Given the description of an element on the screen output the (x, y) to click on. 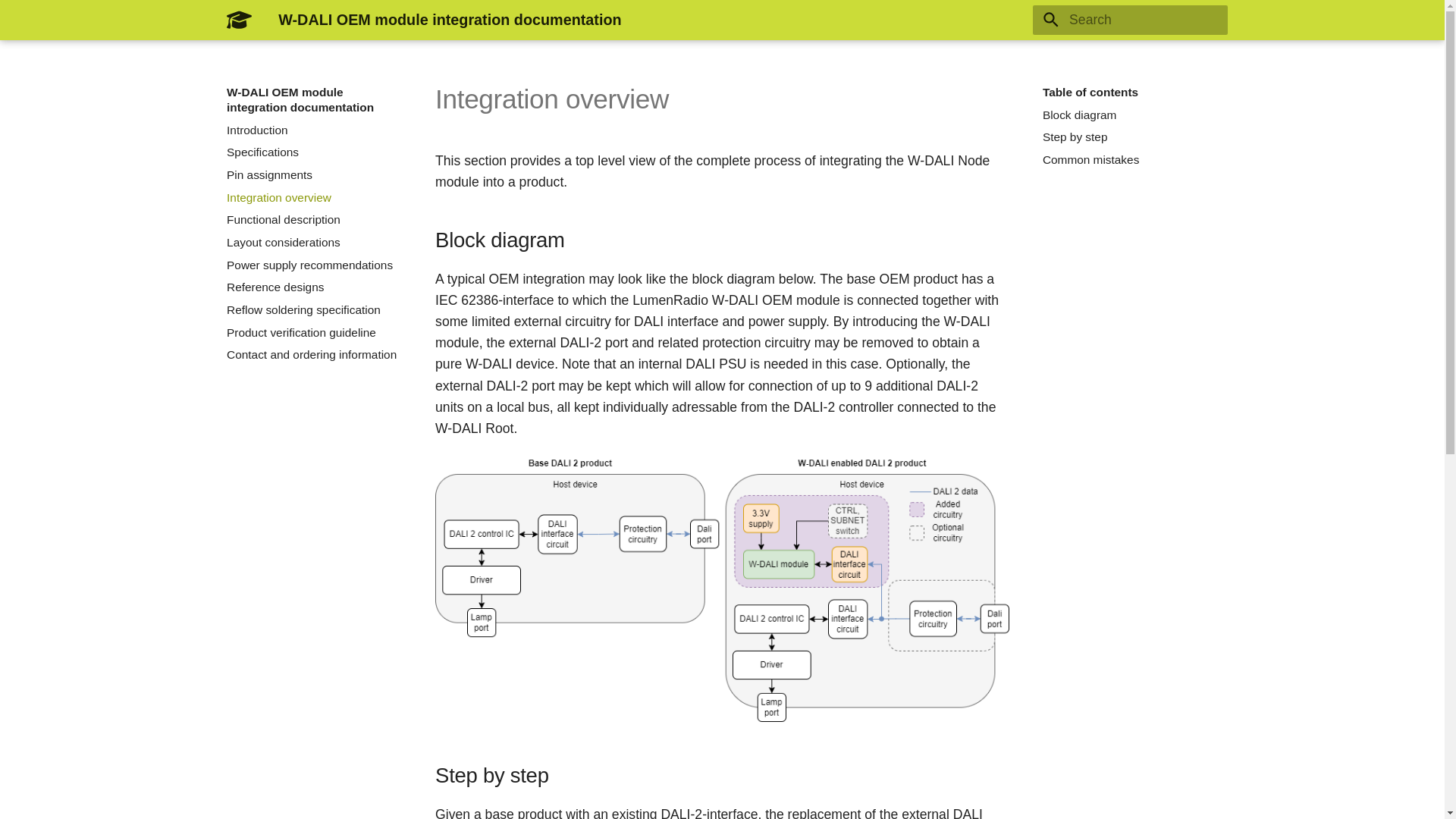
Integration overview (312, 197)
Specifications (312, 151)
Step by step (1128, 136)
Contact and ordering information (312, 354)
Reference designs (312, 287)
Block diagram (1128, 114)
Pin assignments (312, 174)
Introduction (312, 130)
Functional description (312, 219)
W-DALI OEM module integration documentation (239, 19)
